Given the description of an element on the screen output the (x, y) to click on. 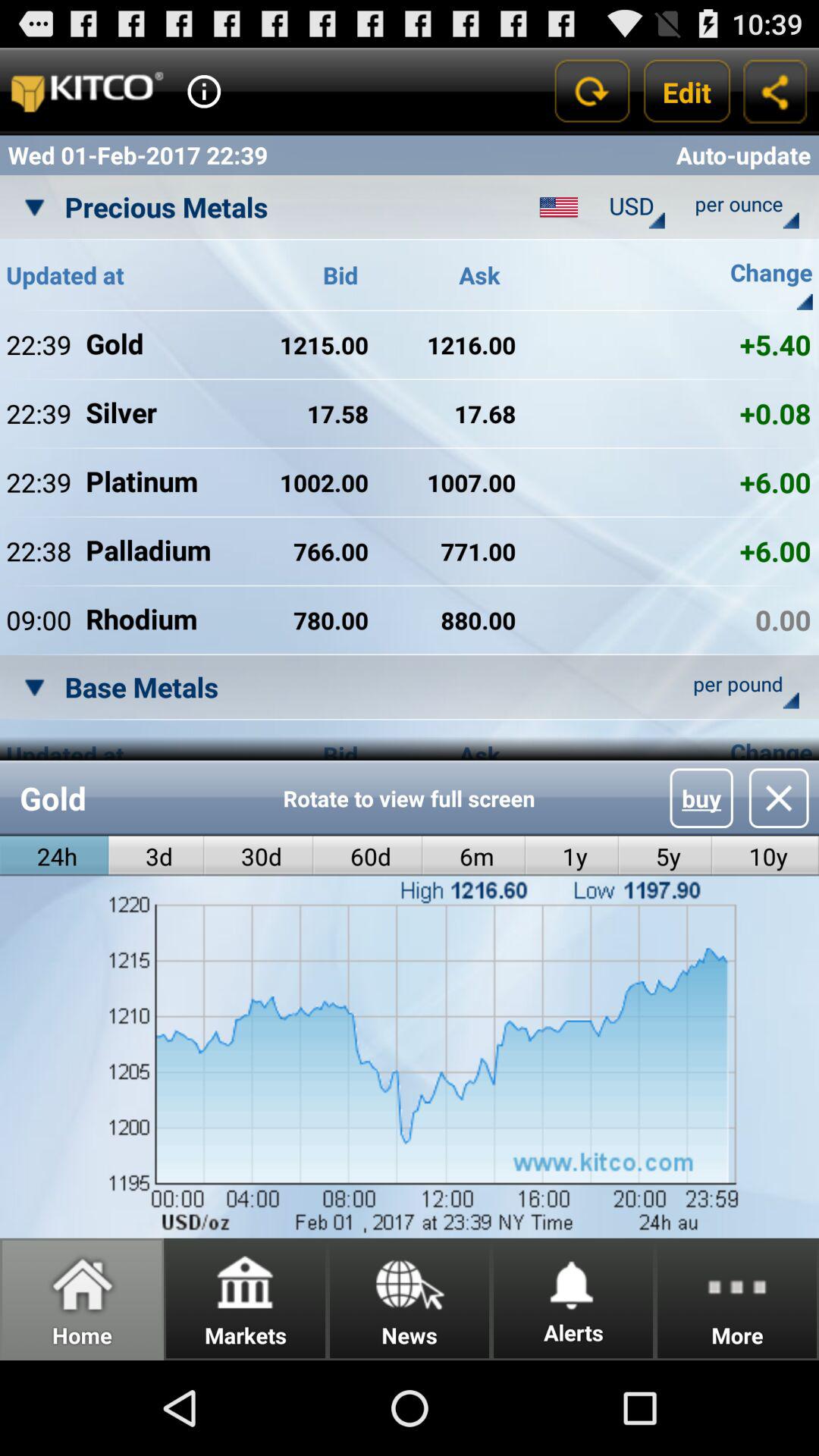
select item next to 10y icon (665, 856)
